Given the description of an element on the screen output the (x, y) to click on. 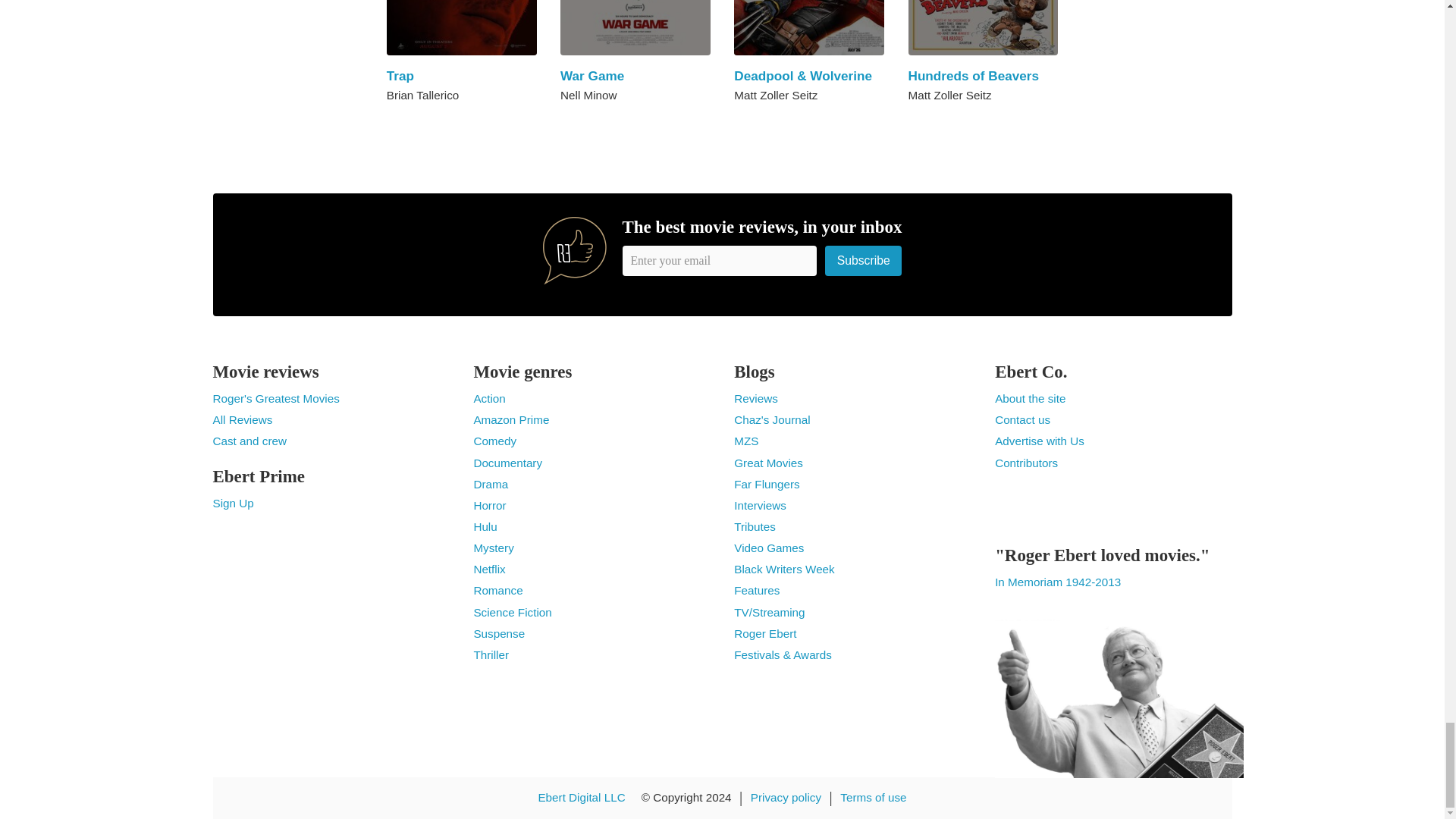
Subscribe (863, 260)
